Given the description of an element on the screen output the (x, y) to click on. 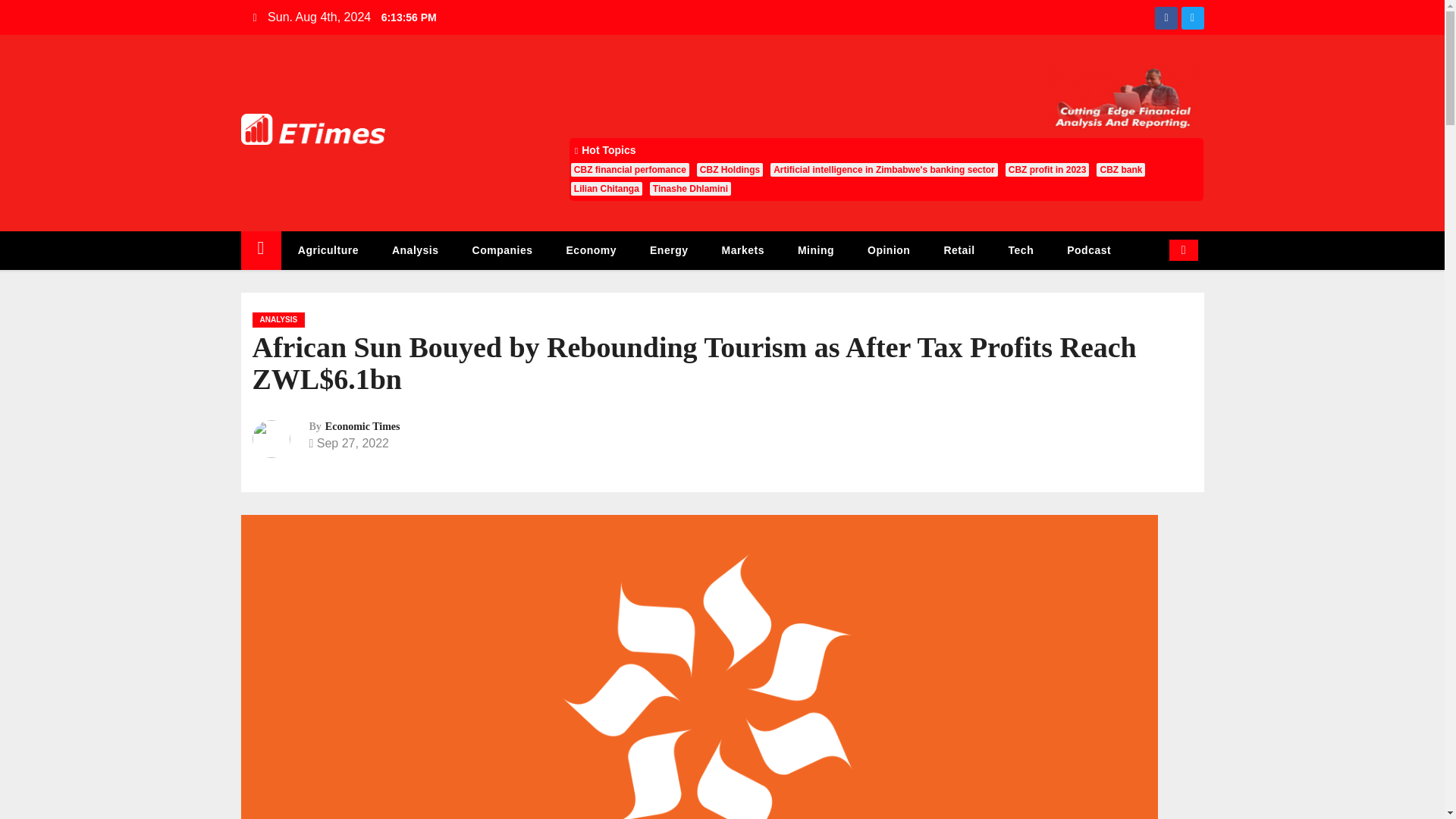
CBZ profit in 2023 (1047, 169)
CBZ bank (1120, 169)
Companies (502, 250)
Home (261, 250)
Energy (668, 250)
CBZ Holdings (729, 169)
Opinion (888, 250)
Tech (1021, 250)
Tech (1021, 250)
Markets (742, 250)
ANALYSIS (277, 319)
Opinion (888, 250)
Lilian Chitanga (606, 188)
Companies (502, 250)
Analysis (415, 250)
